Given the description of an element on the screen output the (x, y) to click on. 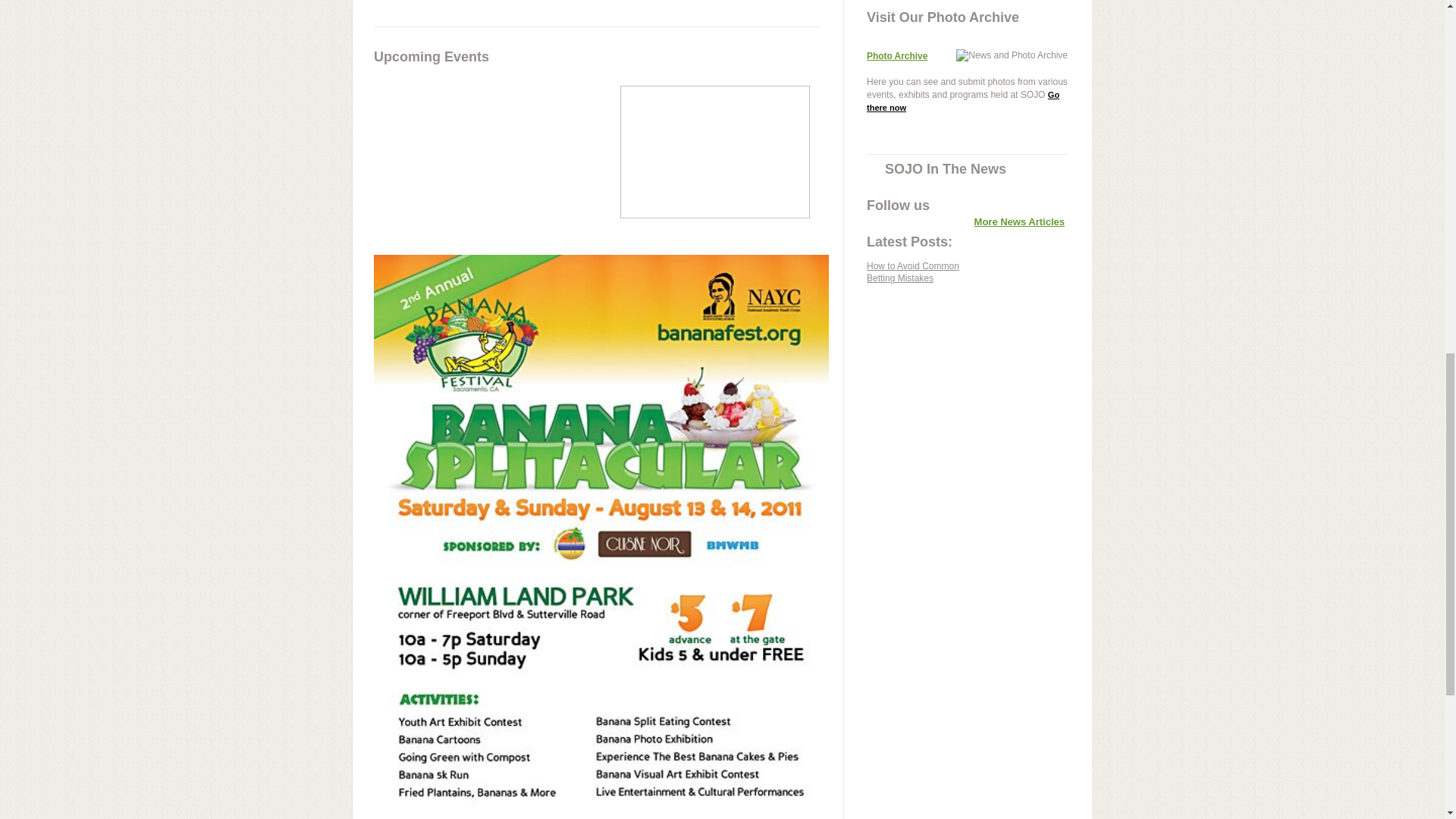
Photo Archive (896, 55)
How to Avoid Common Betting Mistakes (912, 278)
More News Articles (1019, 221)
Go there now (962, 101)
